Given the description of an element on the screen output the (x, y) to click on. 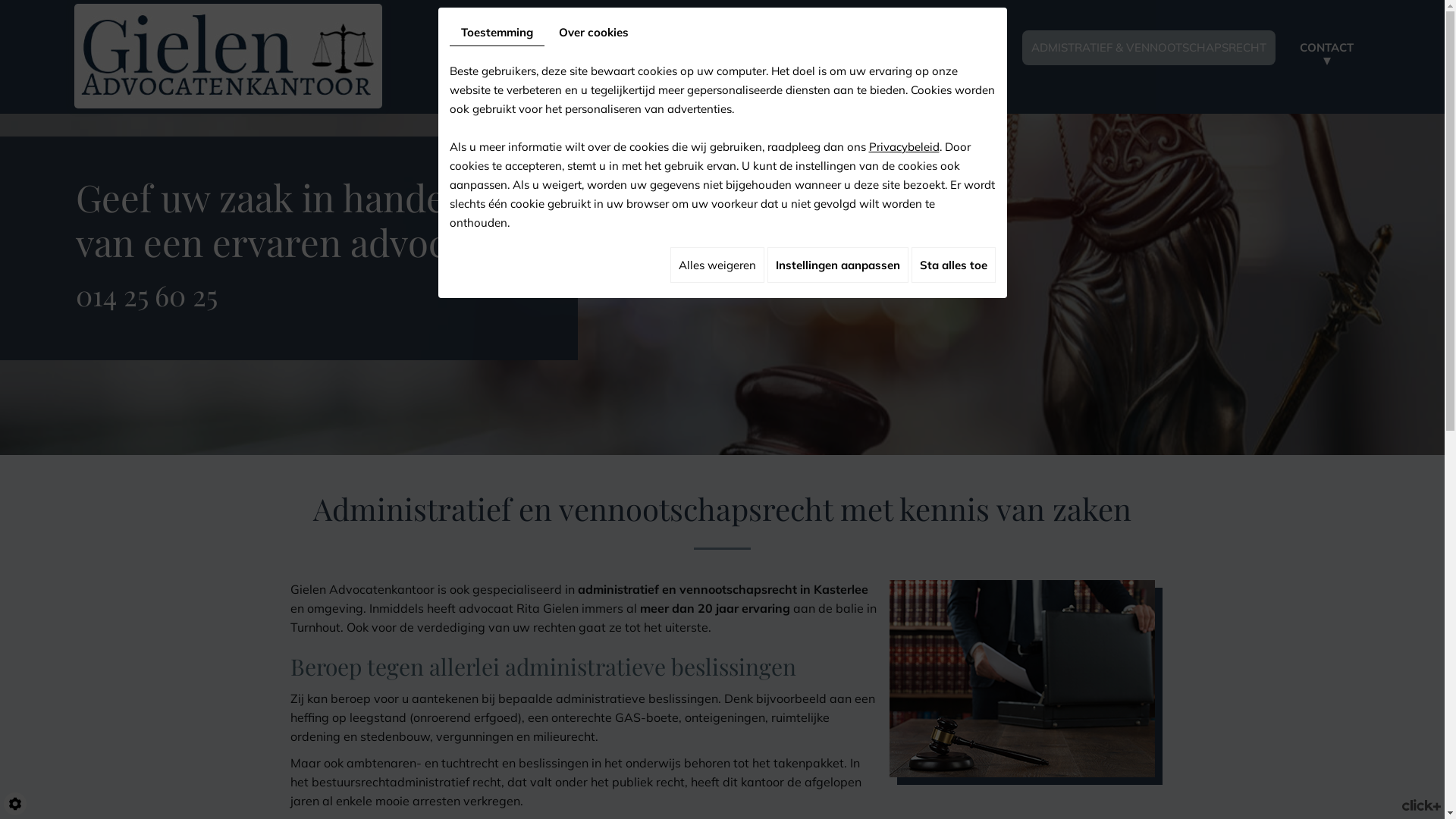
MEDISCH & VETERINAIR RECHT Element type: text (908, 47)
CONTACT Element type: text (1326, 47)
Gielen Advocatenkantoor - Advocatenkantoor Element type: hover (228, 54)
Toestemming Element type: text (495, 32)
LANDBOUWRECHT Element type: text (731, 47)
VERBINTENISRECHT Element type: text (586, 47)
Sta alles toe Element type: text (953, 264)
Cookie-instelling bewerken Element type: text (14, 803)
Alles weigeren Element type: text (717, 264)
Privacybeleid Element type: text (904, 146)
ADMISTRATIEF & VENNOOTSCHAPSRECHT Element type: text (1148, 47)
Over cookies Element type: text (593, 31)
HOME Element type: text (476, 47)
Instellingen aanpassen Element type: text (837, 264)
